Given the description of an element on the screen output the (x, y) to click on. 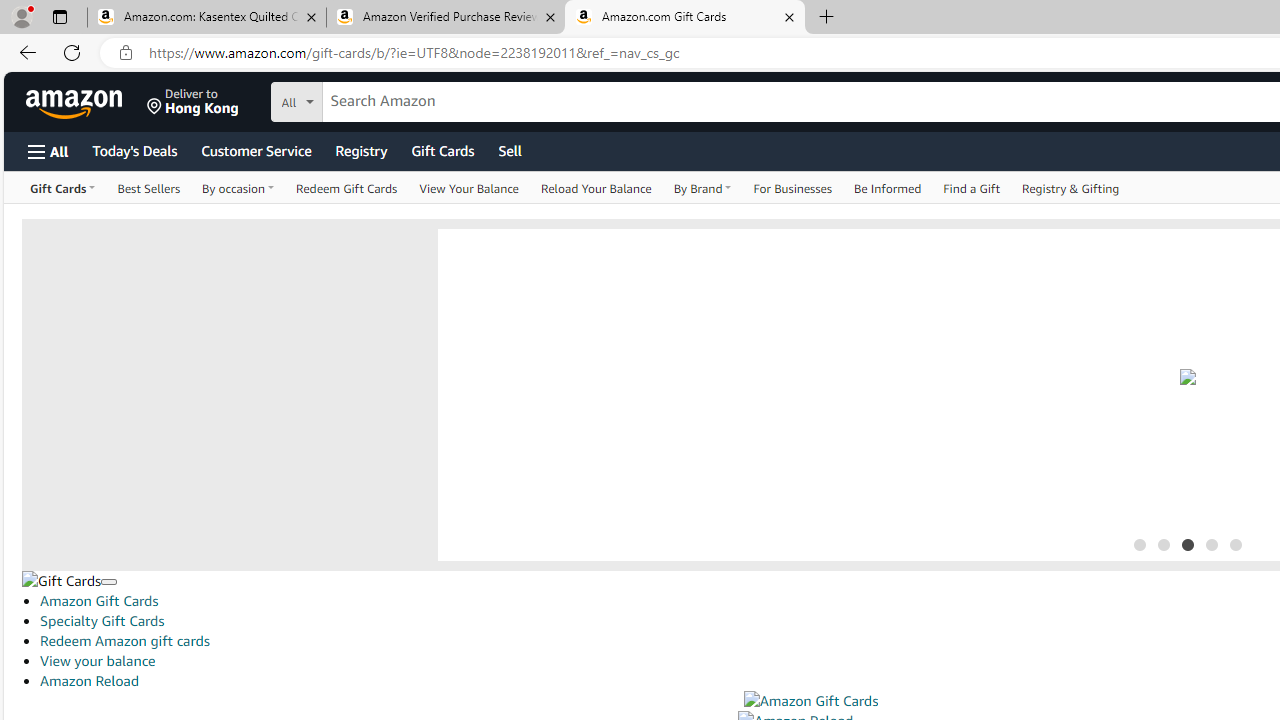
Be Informed (888, 187)
Amazon Gift Cards (810, 701)
Amazon Verified Purchase Reviews - Amazon Customer Service (445, 17)
Gift Cards (61, 580)
Find a Gift (971, 187)
Amazon Gift Cards (810, 701)
Registry (360, 150)
Sell (509, 150)
